Given the description of an element on the screen output the (x, y) to click on. 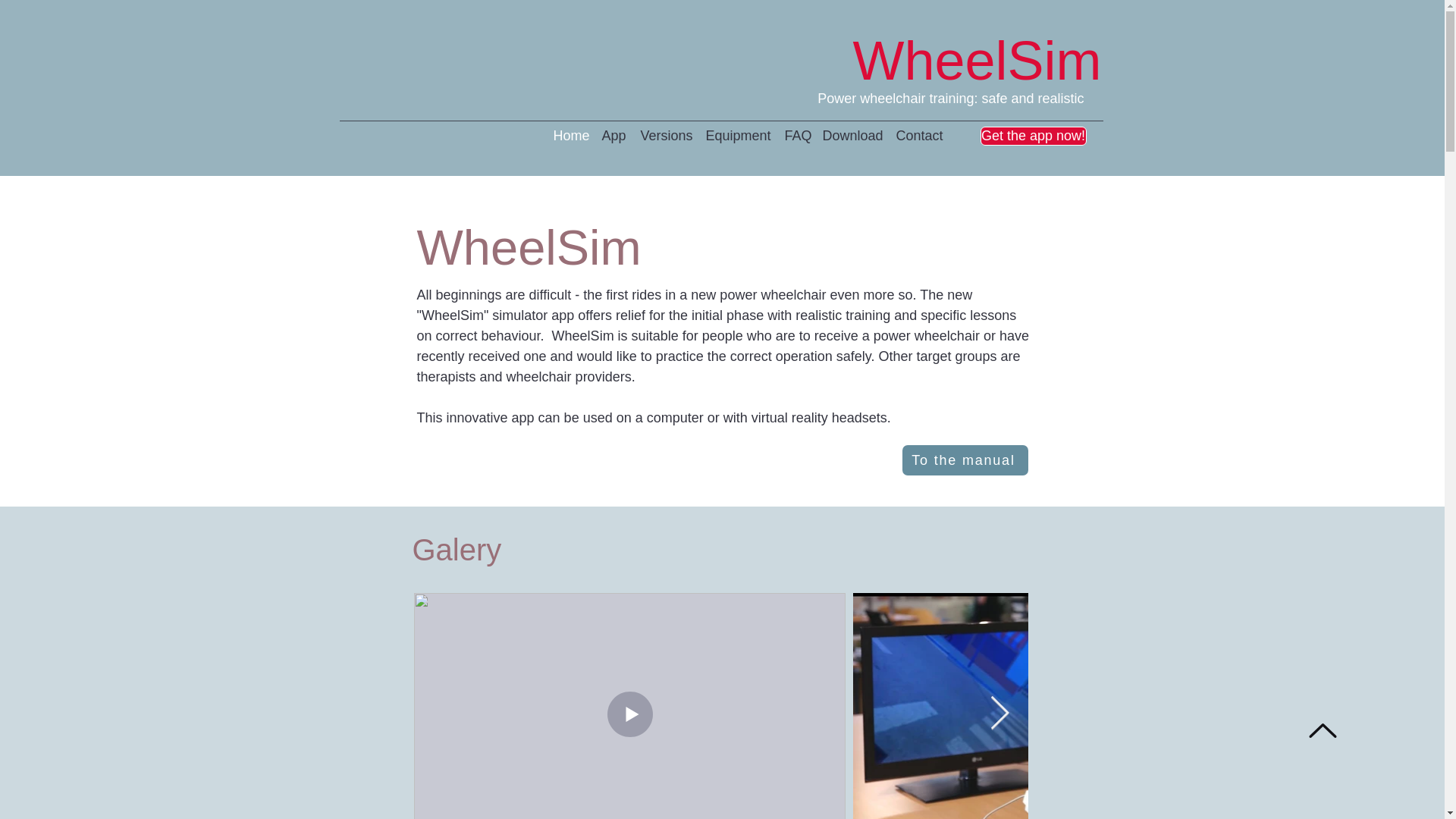
Home (570, 135)
App (613, 135)
Contact (918, 135)
Download (850, 135)
Versions (664, 135)
FAQ (794, 135)
WheelSim (975, 60)
Equipment (736, 135)
To the manual (964, 460)
Get the app now! (1032, 135)
